Given the description of an element on the screen output the (x, y) to click on. 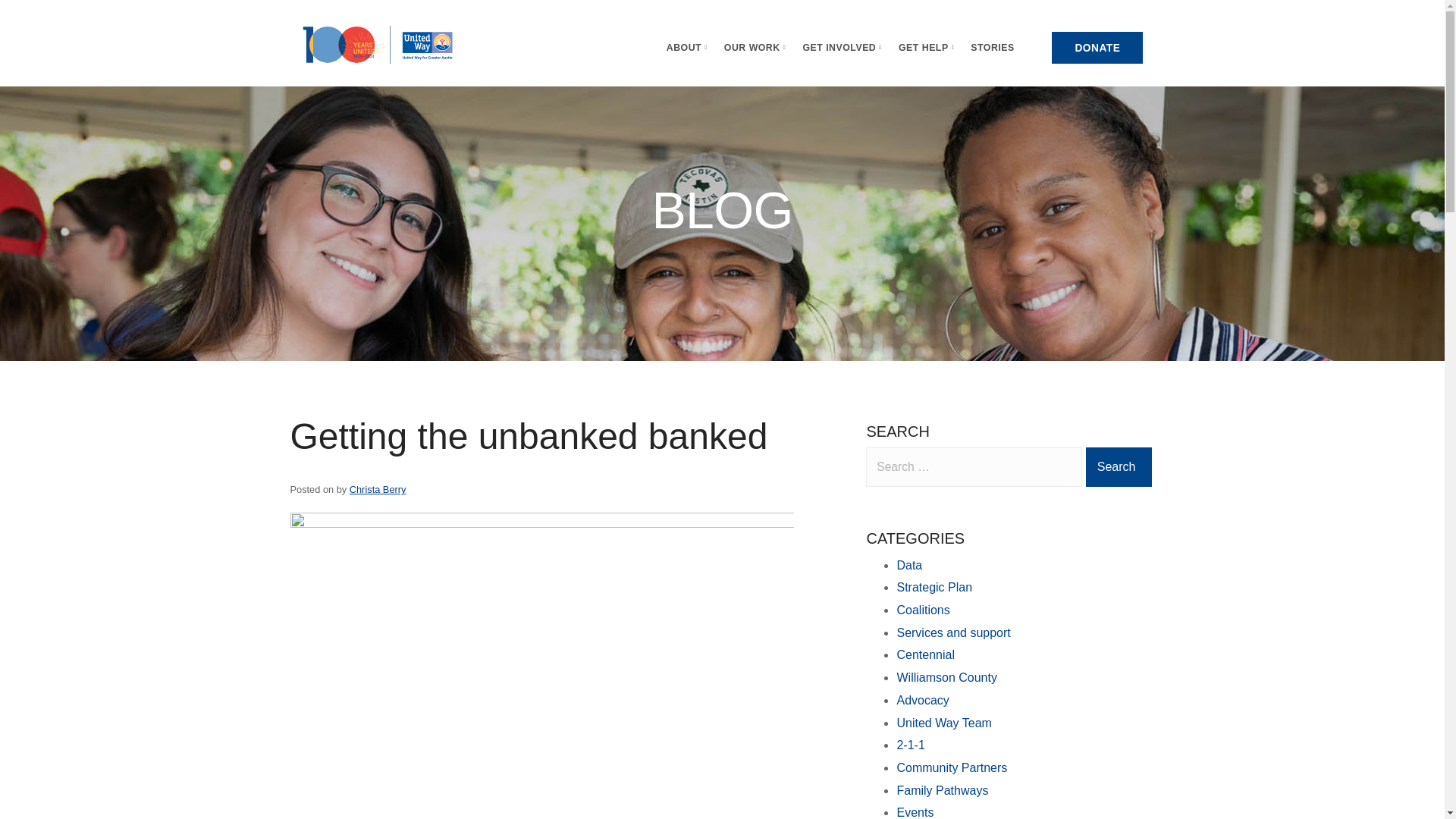
OUR WORK (754, 47)
Search (1118, 466)
Search (1118, 466)
ABOUT (686, 47)
